Given the description of an element on the screen output the (x, y) to click on. 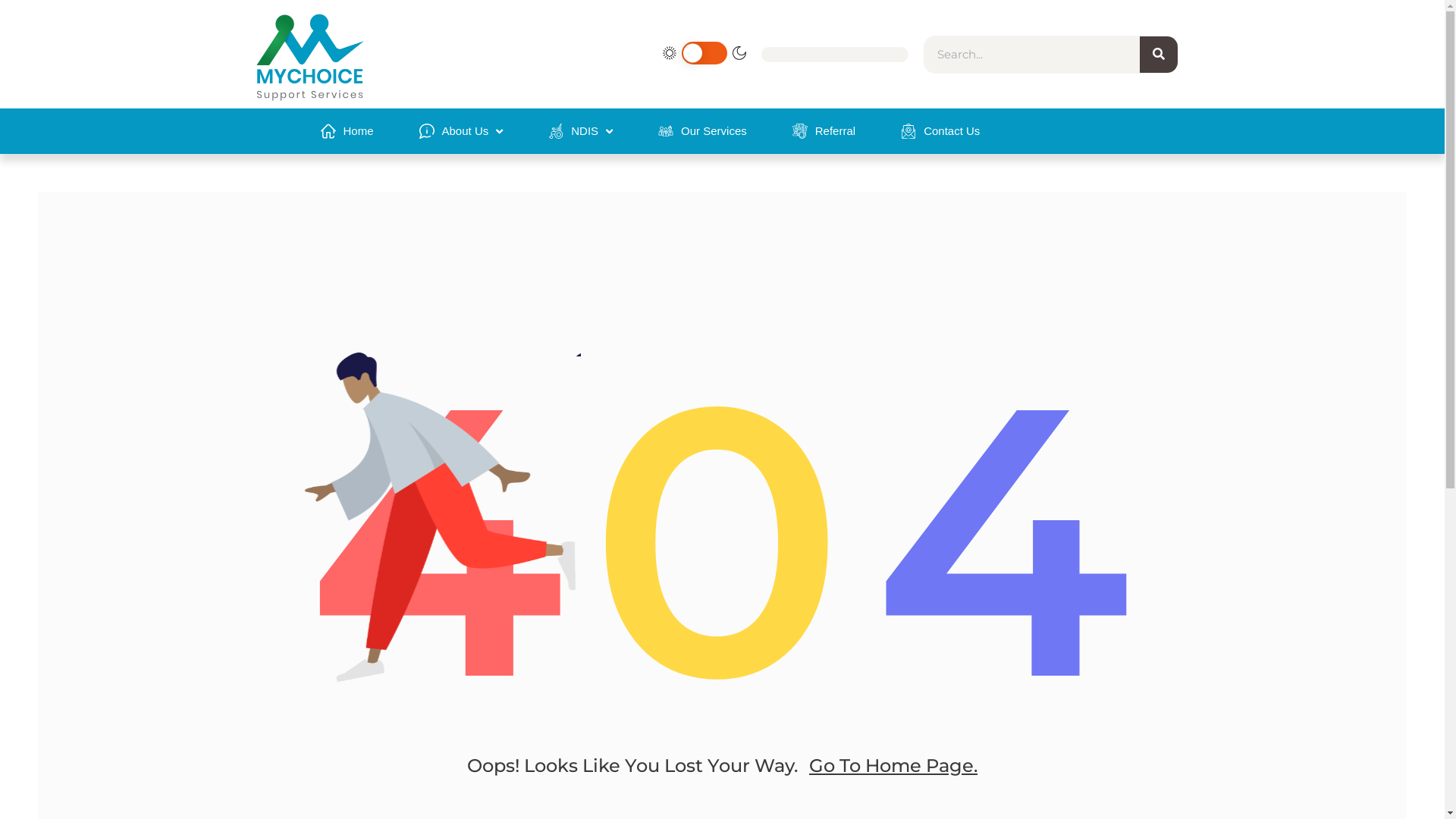
Referral Element type: text (823, 131)
Contact Us Element type: text (940, 131)
Our Services Element type: text (702, 131)
Home Element type: text (346, 131)
About Us Element type: text (461, 131)
Search Element type: hover (1031, 54)
Search Element type: hover (1158, 54)
Go To Home Page. Element type: text (893, 765)
NDIS Element type: text (580, 131)
